Given the description of an element on the screen output the (x, y) to click on. 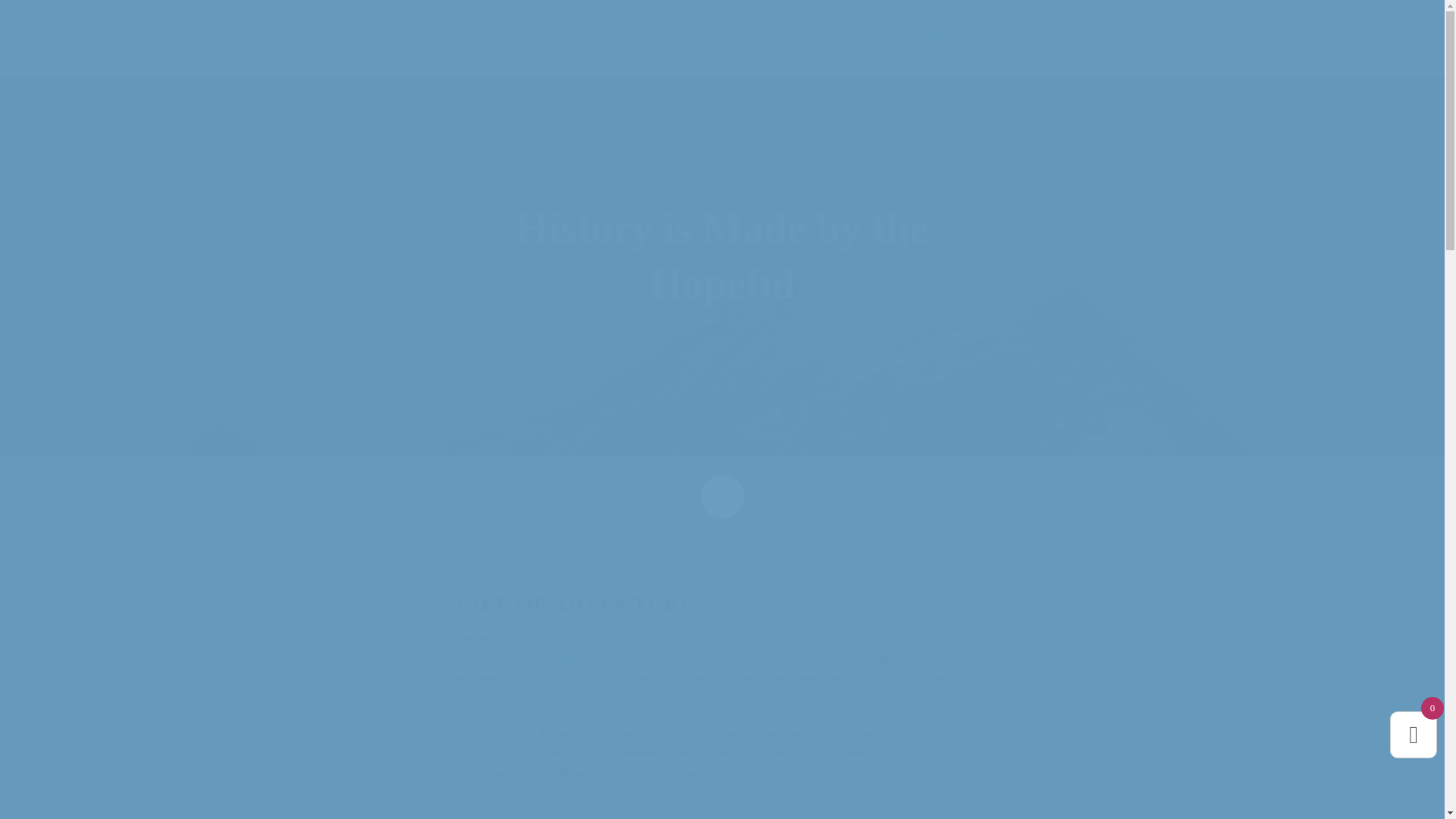
RESOURCES (653, 38)
ENGAGE (857, 38)
ORIENT YOURSELF (545, 38)
September 27, 2020 (722, 320)
ENGAGE (857, 38)
RESOURCES (653, 38)
Conner Prairie (585, 658)
0 (939, 37)
ORIENT YOURSELF (545, 38)
